Given the description of an element on the screen output the (x, y) to click on. 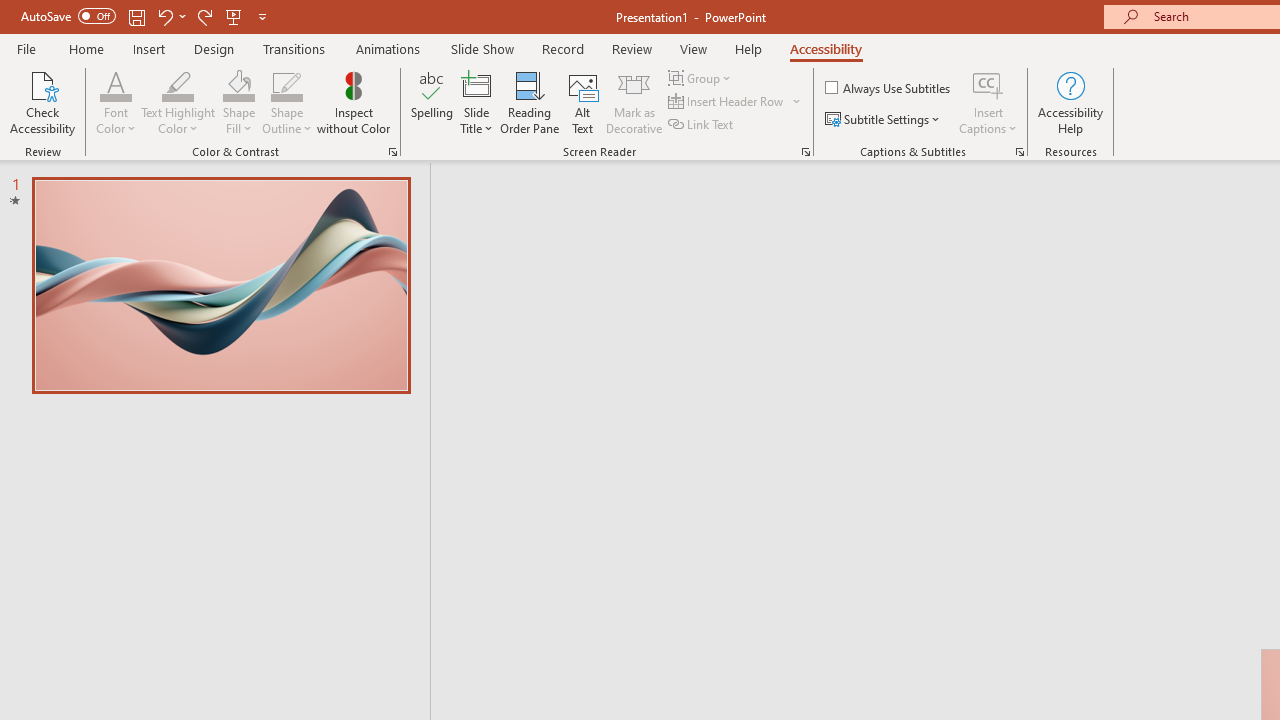
Captions & Subtitles (1019, 151)
Group (701, 78)
Reading Order Pane (529, 102)
